Given the description of an element on the screen output the (x, y) to click on. 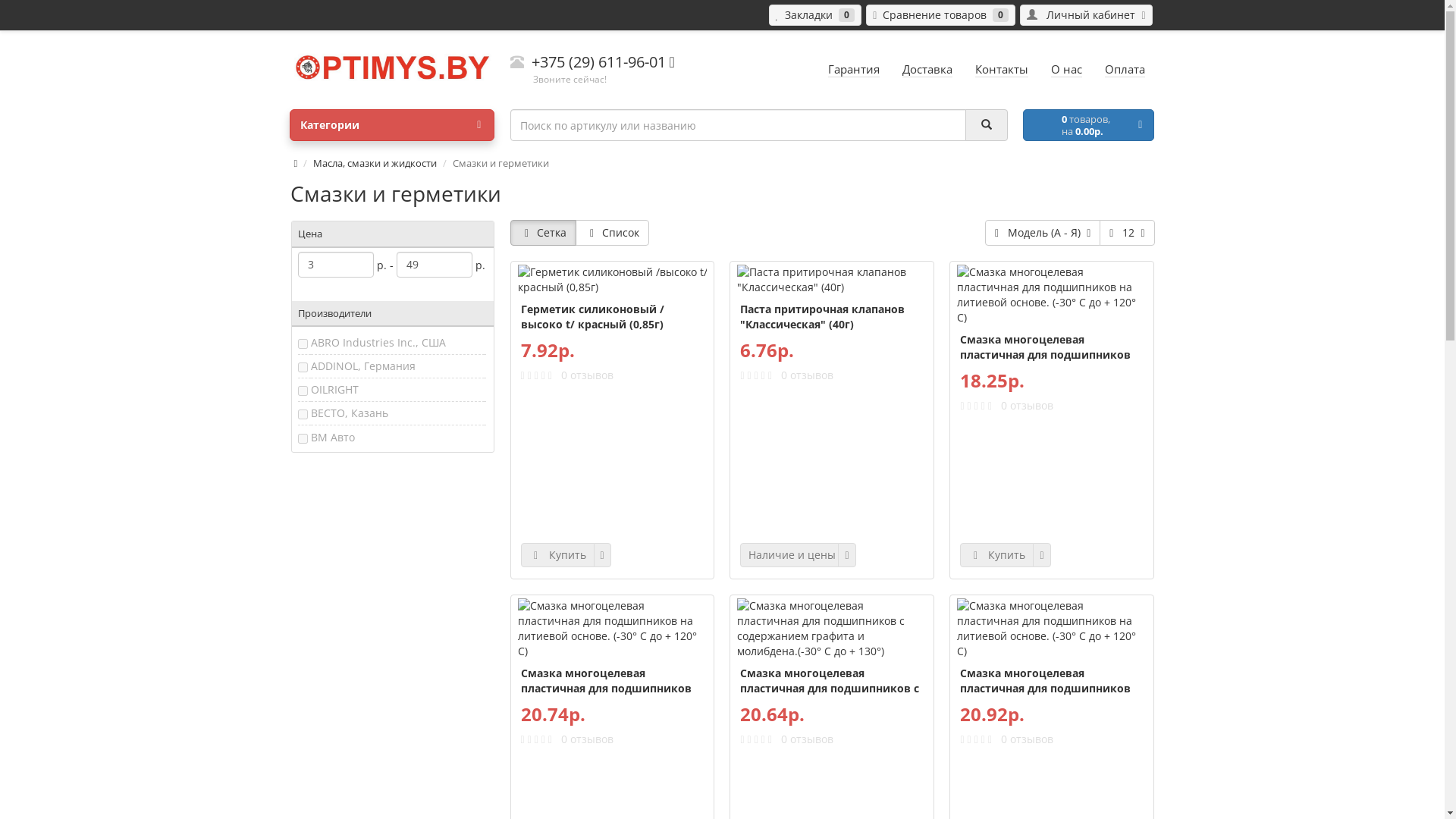
Optimys.by Element type: hover (391, 67)
   12   Element type: text (1126, 232)
